Given the description of an element on the screen output the (x, y) to click on. 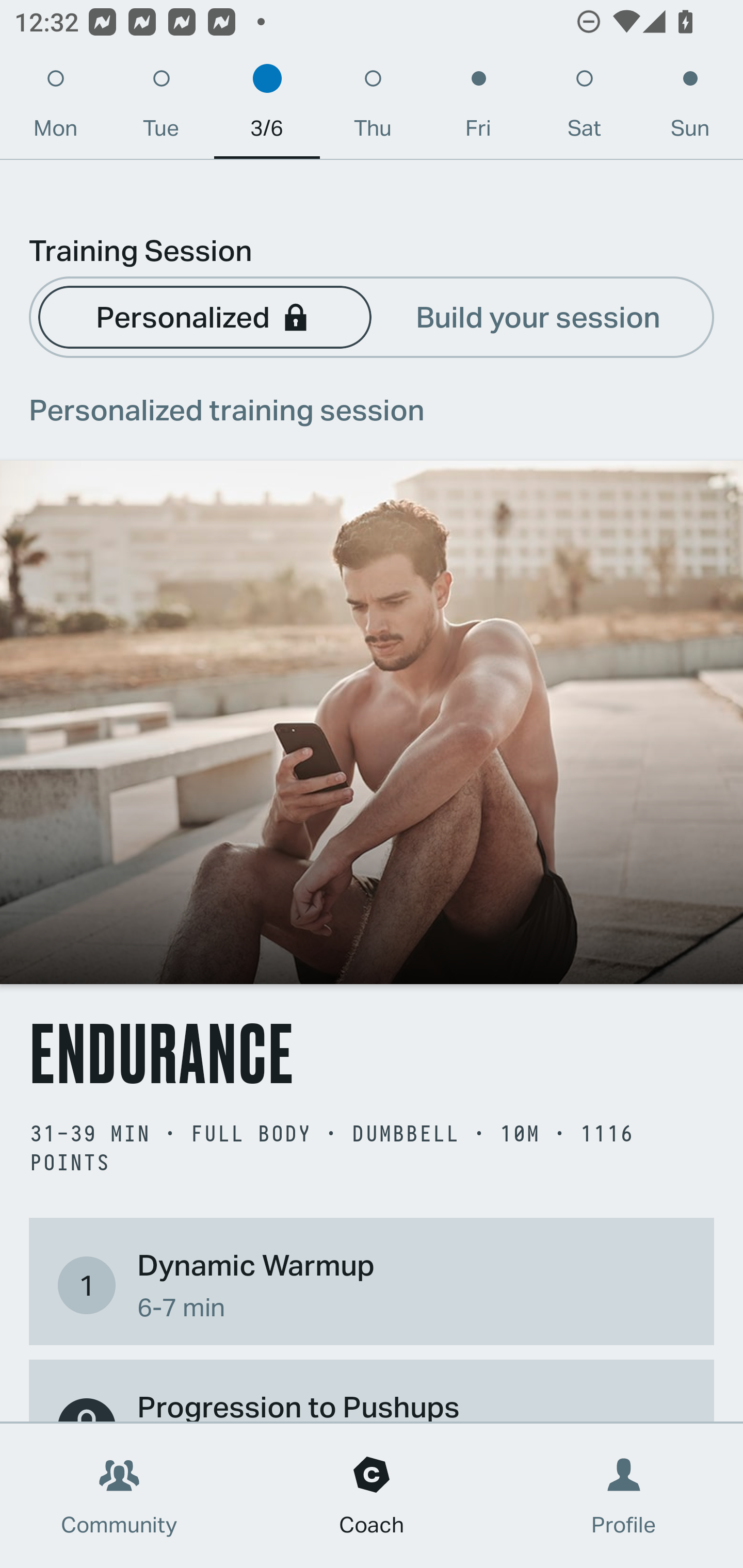
Mon (55, 108)
Tue (160, 108)
3/6 (266, 108)
Thu (372, 108)
Fri (478, 108)
Sat (584, 108)
Sun (690, 108)
Personalized (204, 315)
Build your session (538, 315)
1 Dynamic Warmup 6-7 min (371, 1284)
Community (119, 1495)
Profile (624, 1495)
